Given the description of an element on the screen output the (x, y) to click on. 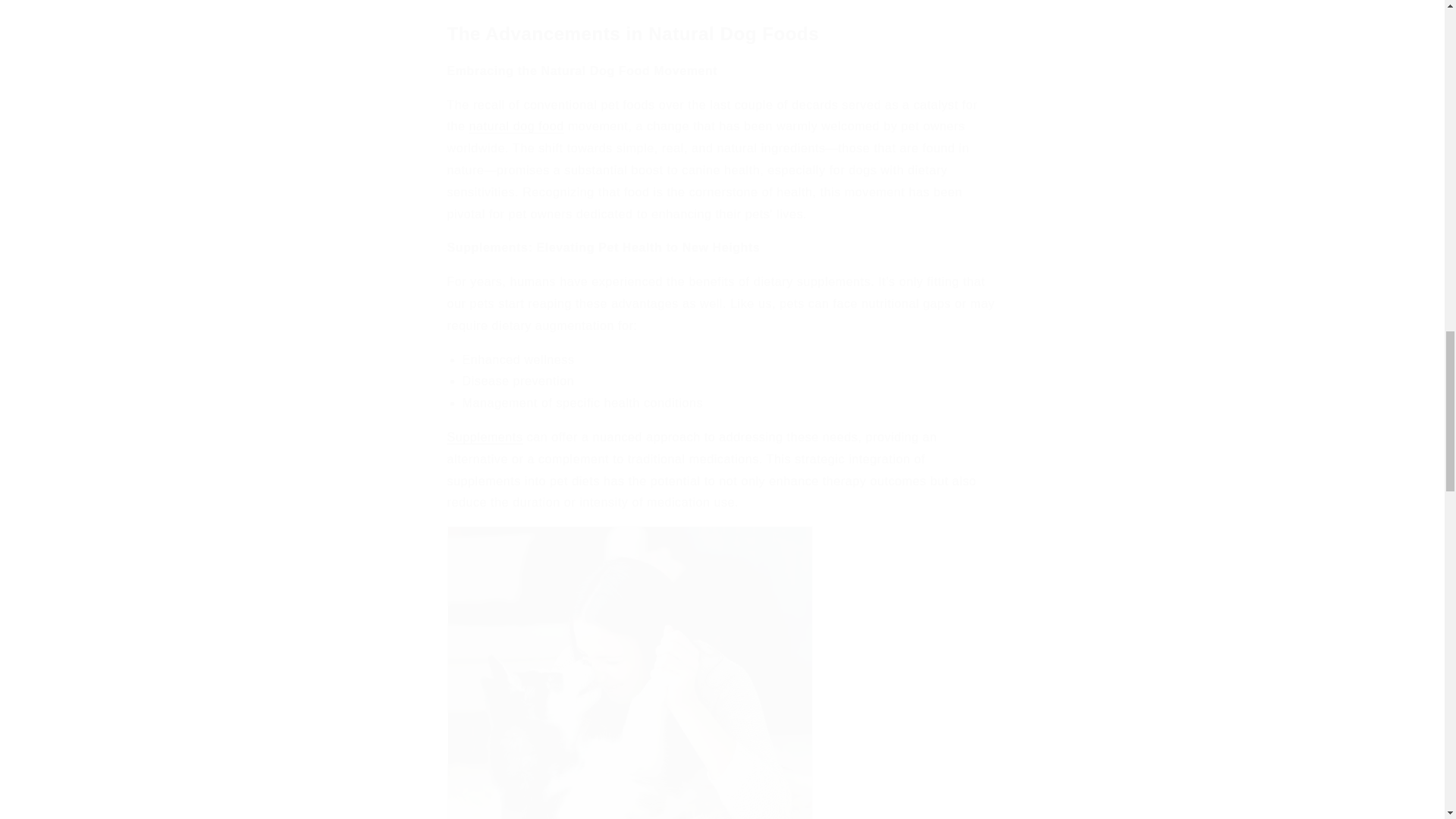
natural dog food (516, 125)
supplements (484, 436)
